Given the description of an element on the screen output the (x, y) to click on. 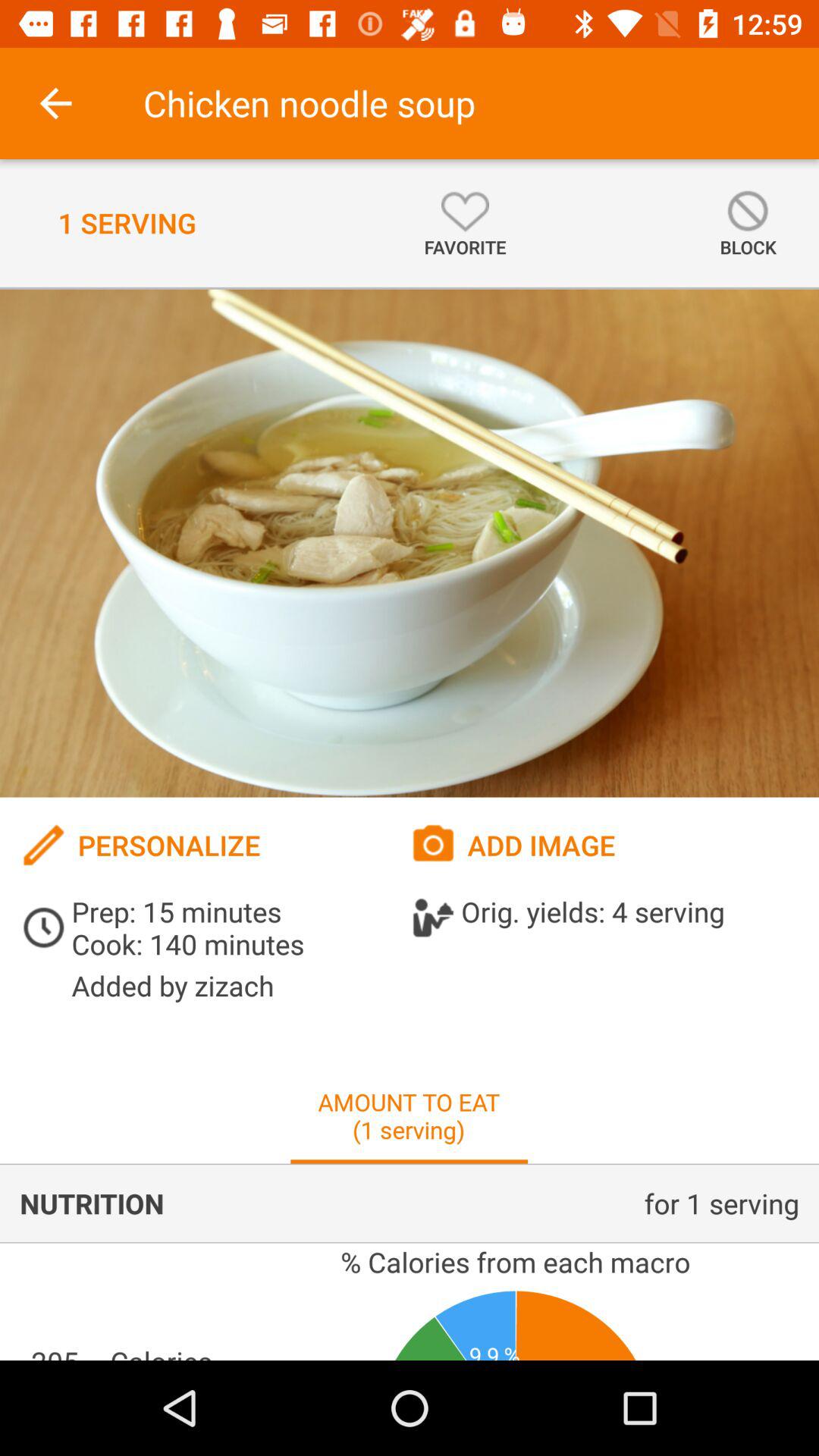
open the icon next to chicken noodle soup icon (55, 103)
